Given the description of an element on the screen output the (x, y) to click on. 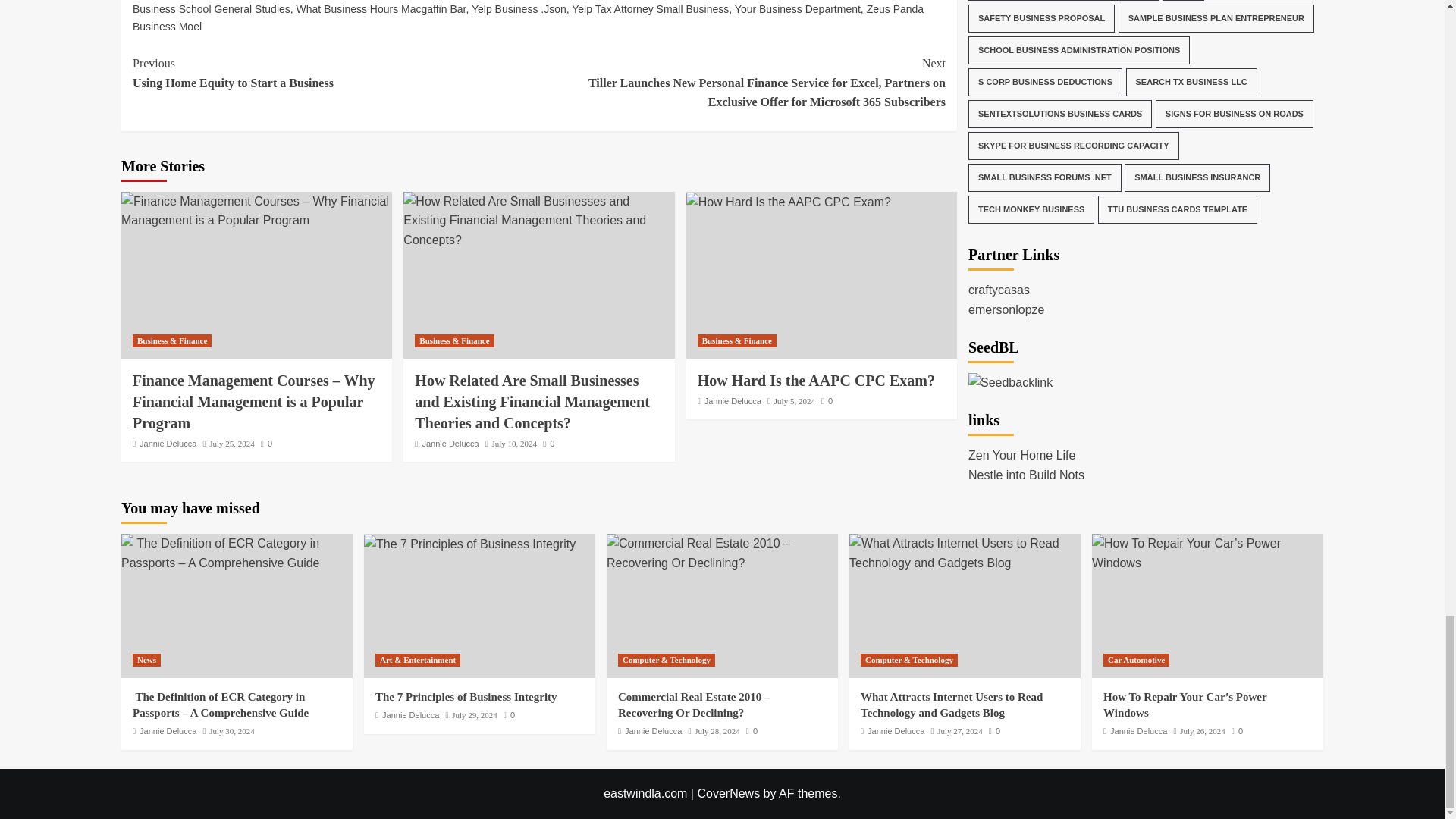
How Hard Is the AAPC CPC Exam? (788, 202)
